Given the description of an element on the screen output the (x, y) to click on. 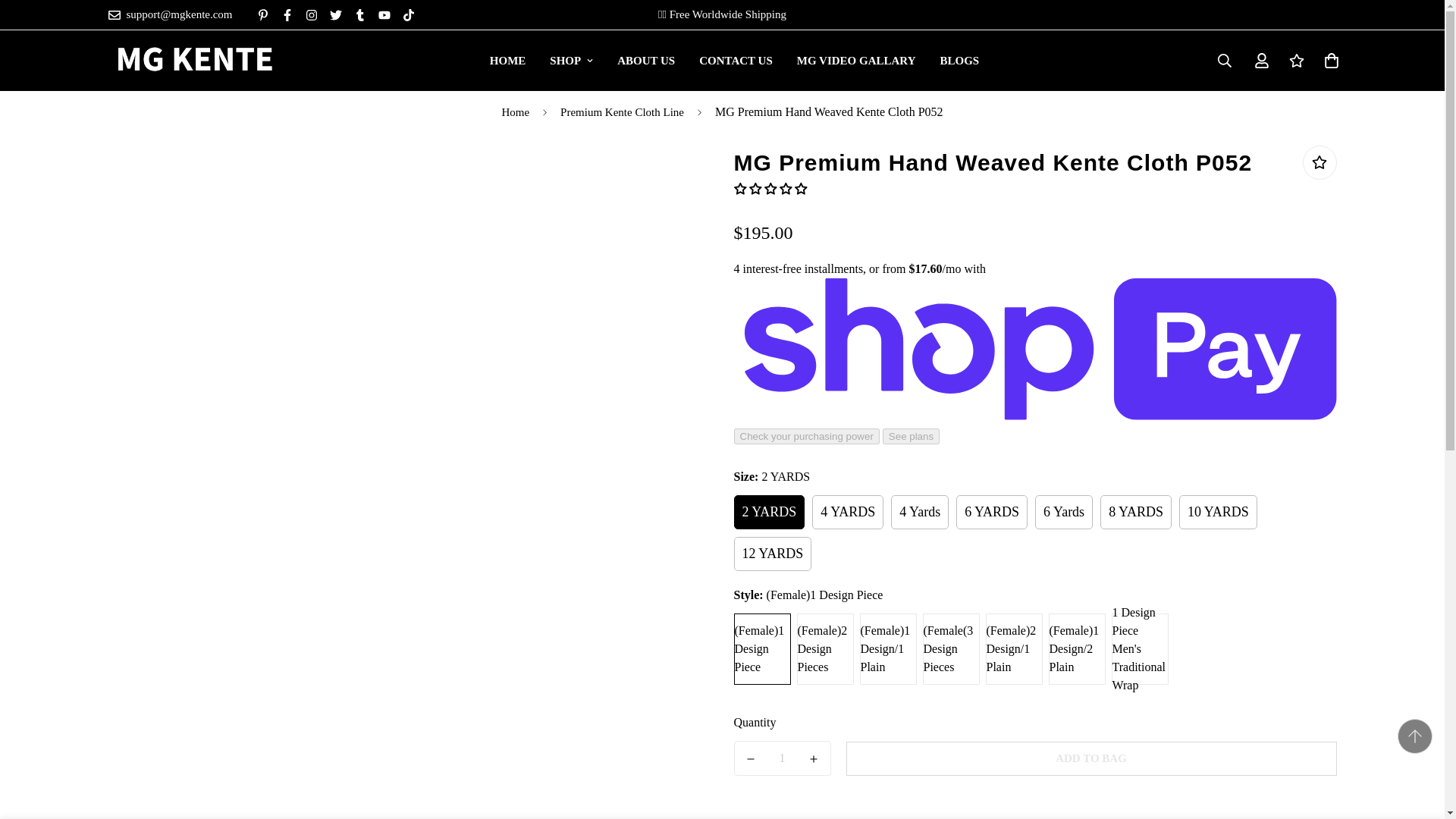
ABOUT US (734, 60)
8 YARDS (646, 60)
2 YARDS (507, 60)
12 YARDS (734, 60)
